Given the description of an element on the screen output the (x, y) to click on. 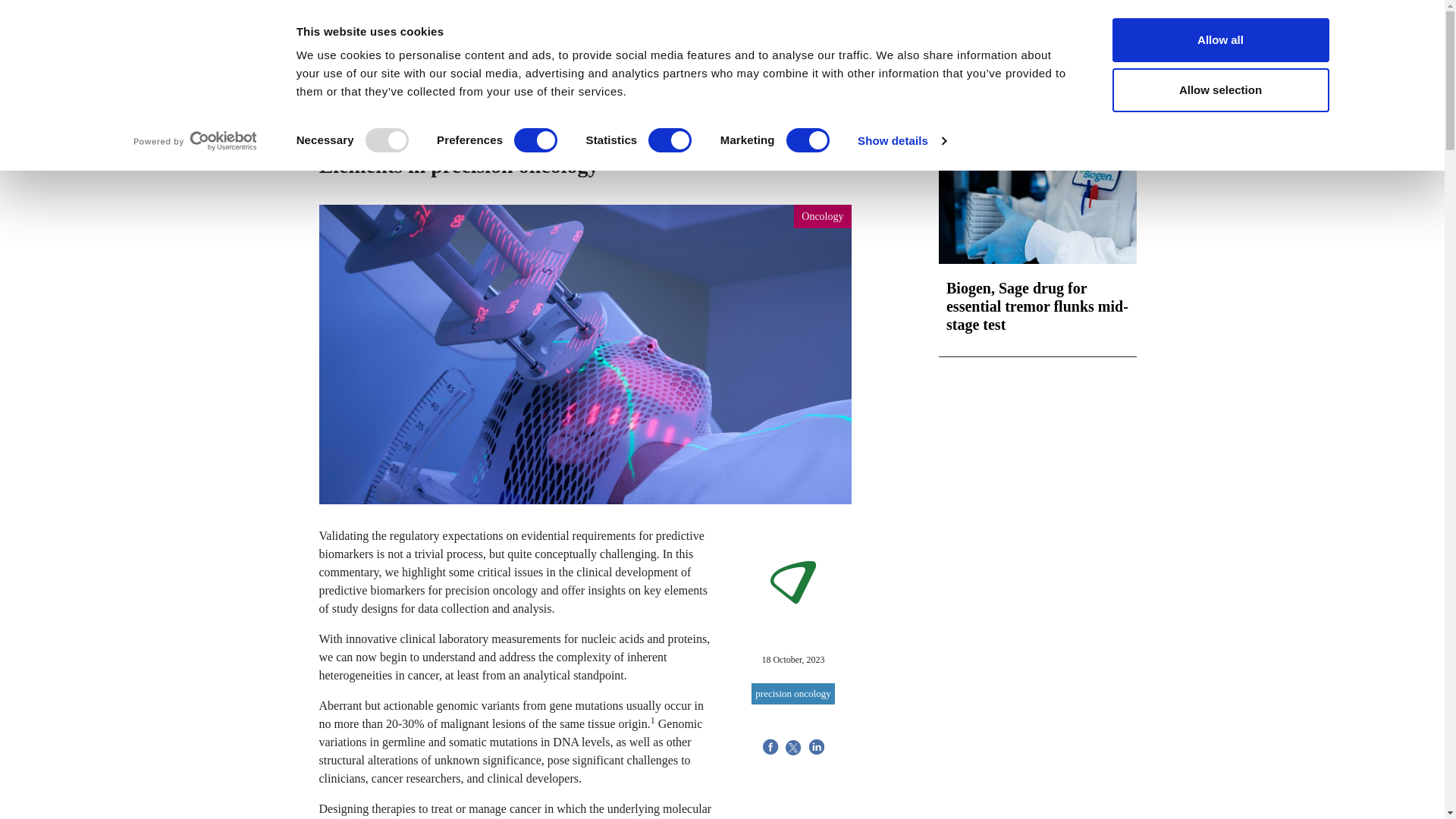
Show details (900, 140)
